Given the description of an element on the screen output the (x, y) to click on. 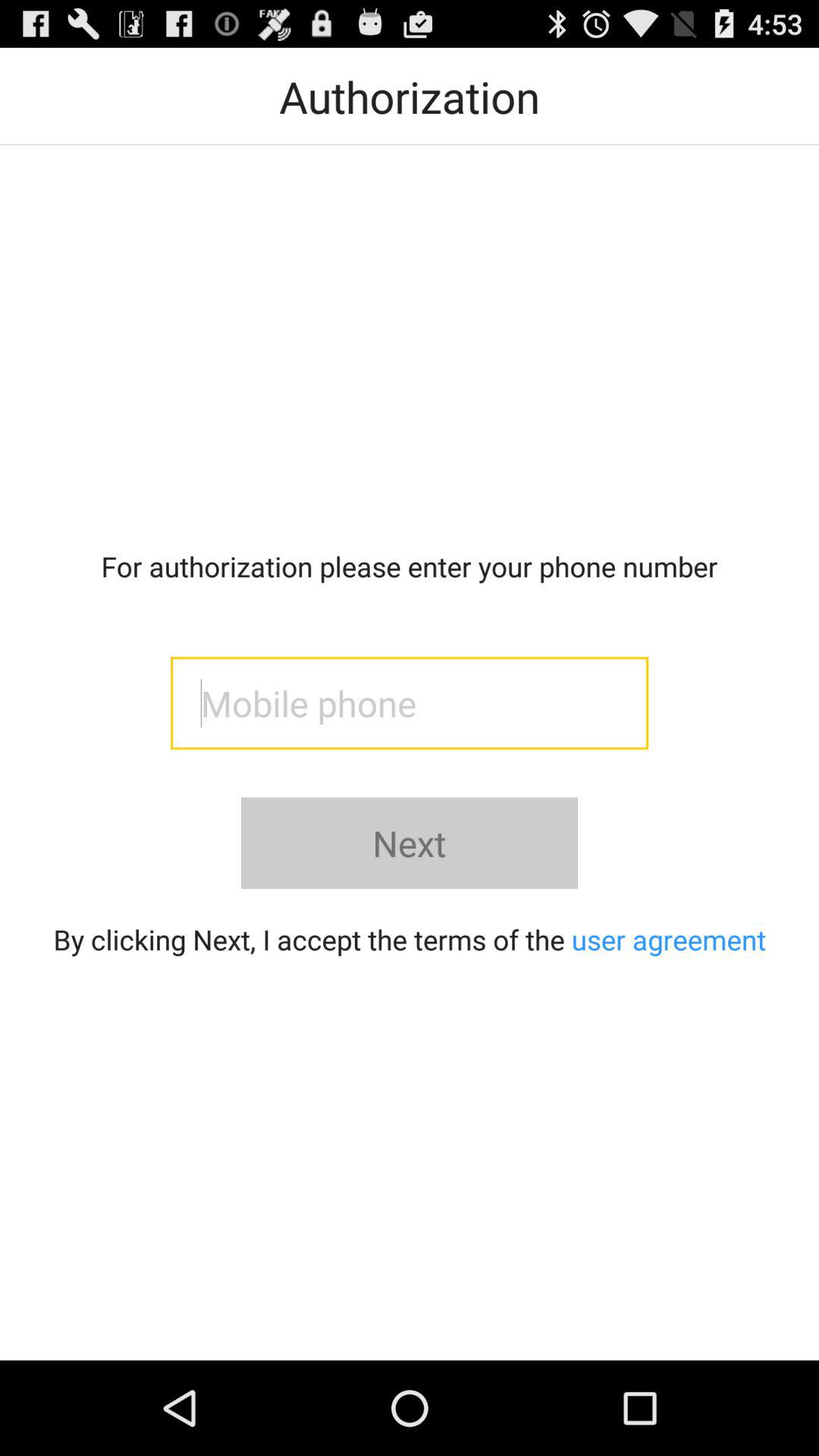
swipe to the by clicking next item (409, 939)
